Given the description of an element on the screen output the (x, y) to click on. 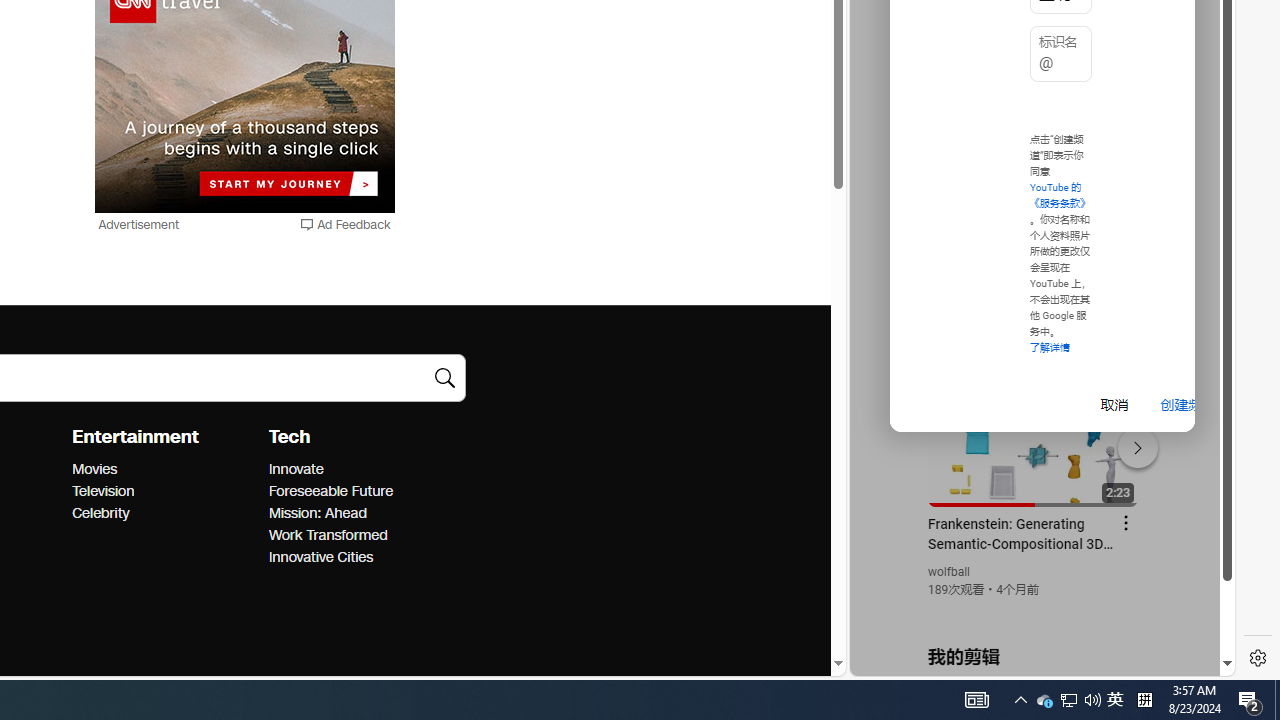
Innovative Cities (360, 557)
you (1034, 609)
Tech (289, 437)
Tech Innovate (295, 469)
EntertainmentMoviesTelevisionCelebrity (169, 474)
